Given the description of an element on the screen output the (x, y) to click on. 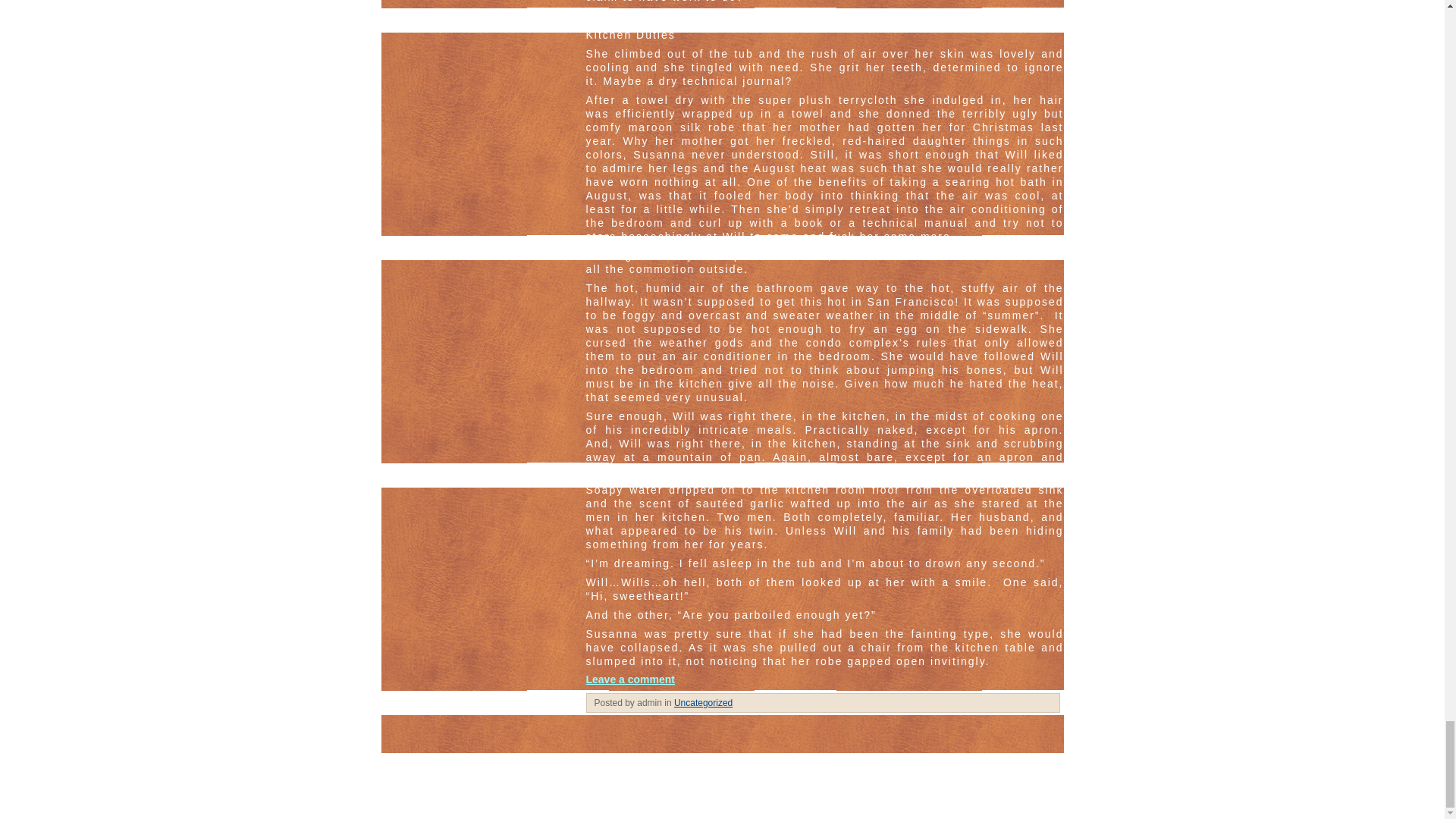
UniformDollars.Com (540, 779)
Uncategorized (703, 702)
Leave a comment (630, 679)
